Given the description of an element on the screen output the (x, y) to click on. 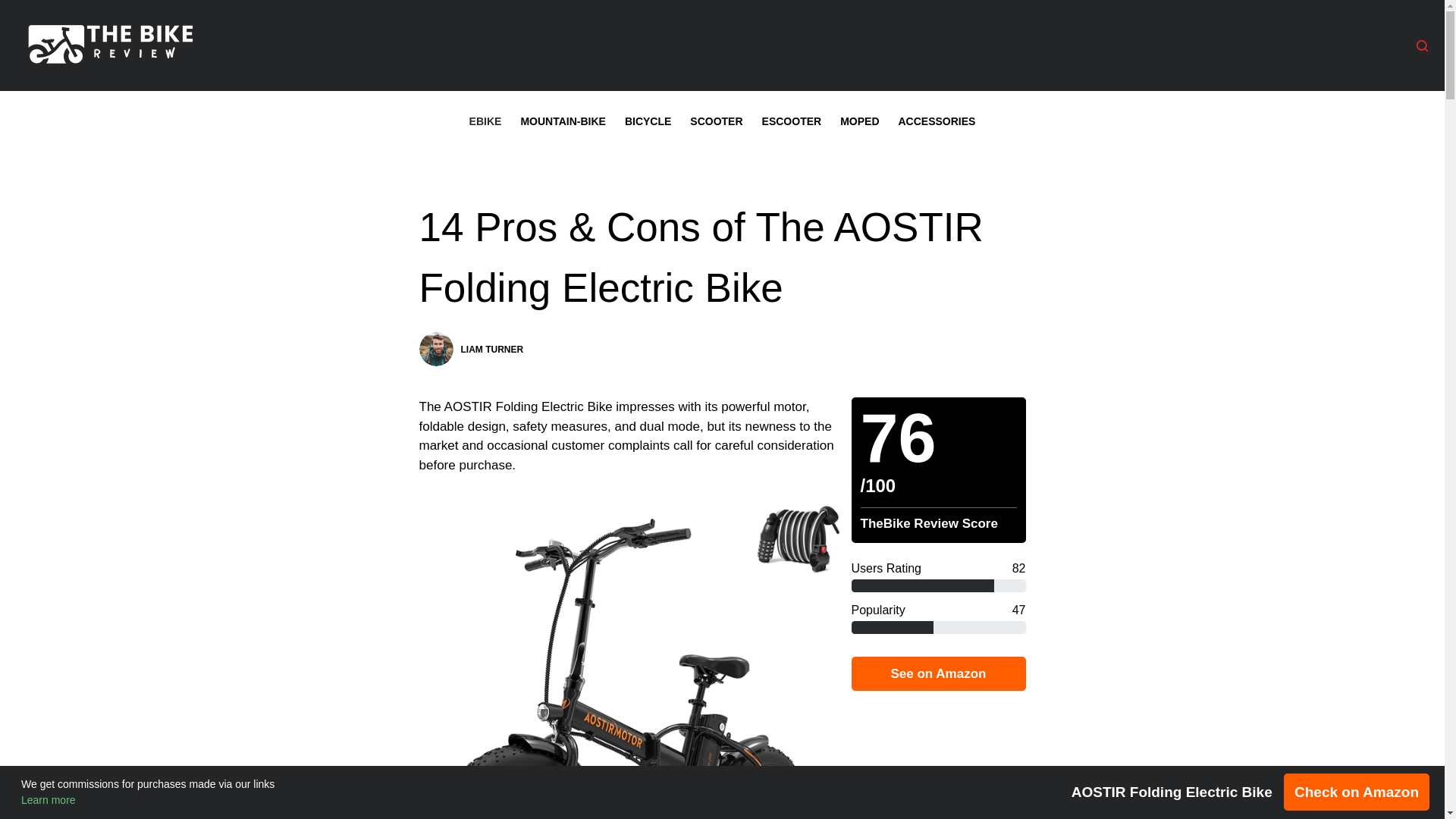
Skip to content (15, 7)
See on Amazon (937, 673)
LIAM TURNER (492, 348)
Check on Amazon (1356, 791)
BICYCLE (646, 120)
Posts by Liam Turner (492, 348)
MOPED (859, 120)
MOUNTAIN-BIKE (563, 120)
ESCOOTER (791, 120)
ACCESSORIES (936, 120)
SCOOTER (716, 120)
Learn more (48, 799)
